Given the description of an element on the screen output the (x, y) to click on. 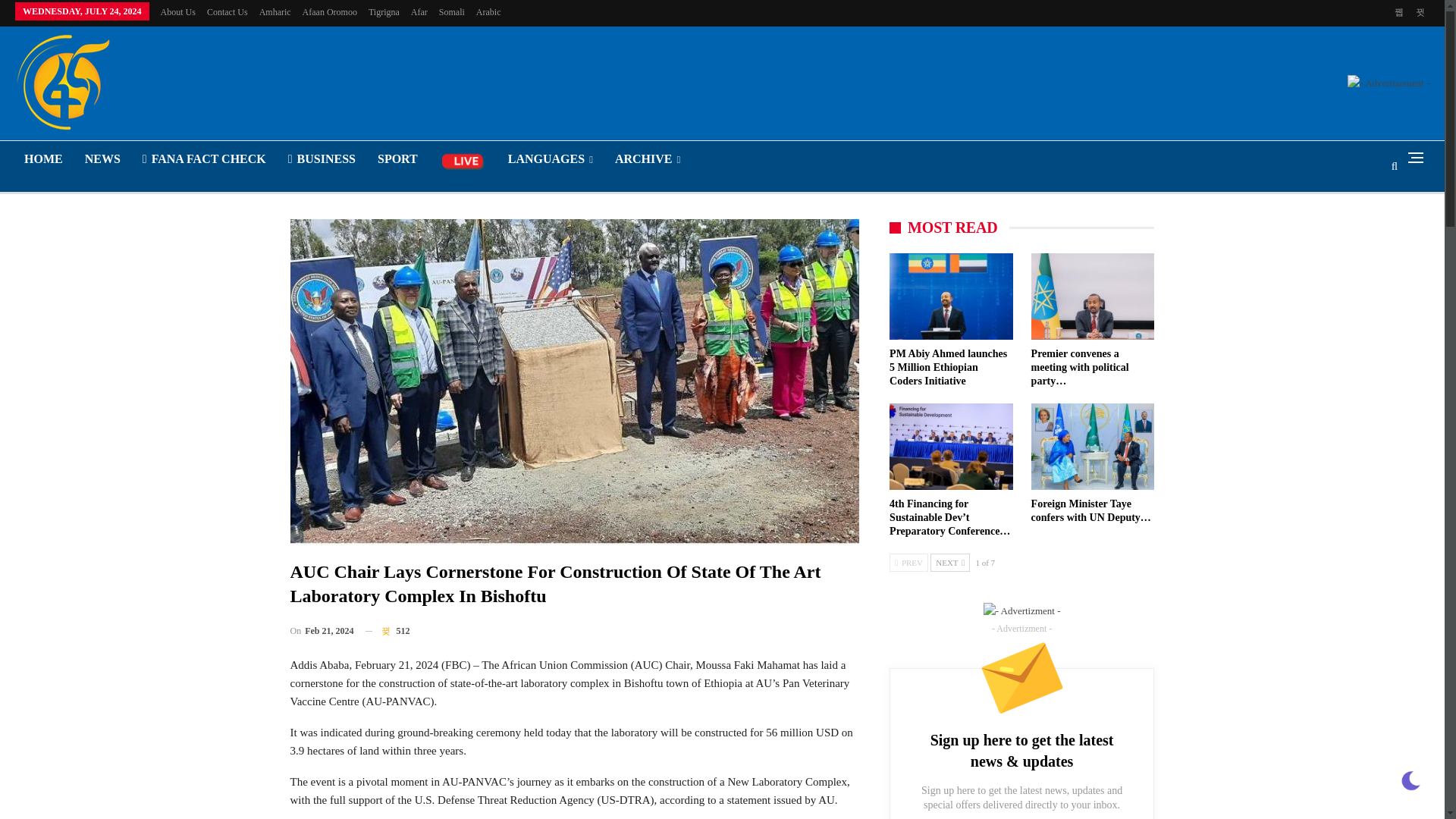
Amharic (275, 11)
About Us (177, 11)
Afaan Oromoo (329, 11)
ARCHIVE (646, 158)
Arabic (488, 11)
BUSINESS (322, 158)
NEWS (102, 158)
LANGUAGES (550, 158)
Somali (451, 11)
Tigrigna (383, 11)
Contact Us (226, 11)
FANA FACT CHECK (204, 158)
PM Abiy Ahmed launches 5 Million Ethiopian Coders Initiative (948, 367)
Afar (419, 11)
